Given the description of an element on the screen output the (x, y) to click on. 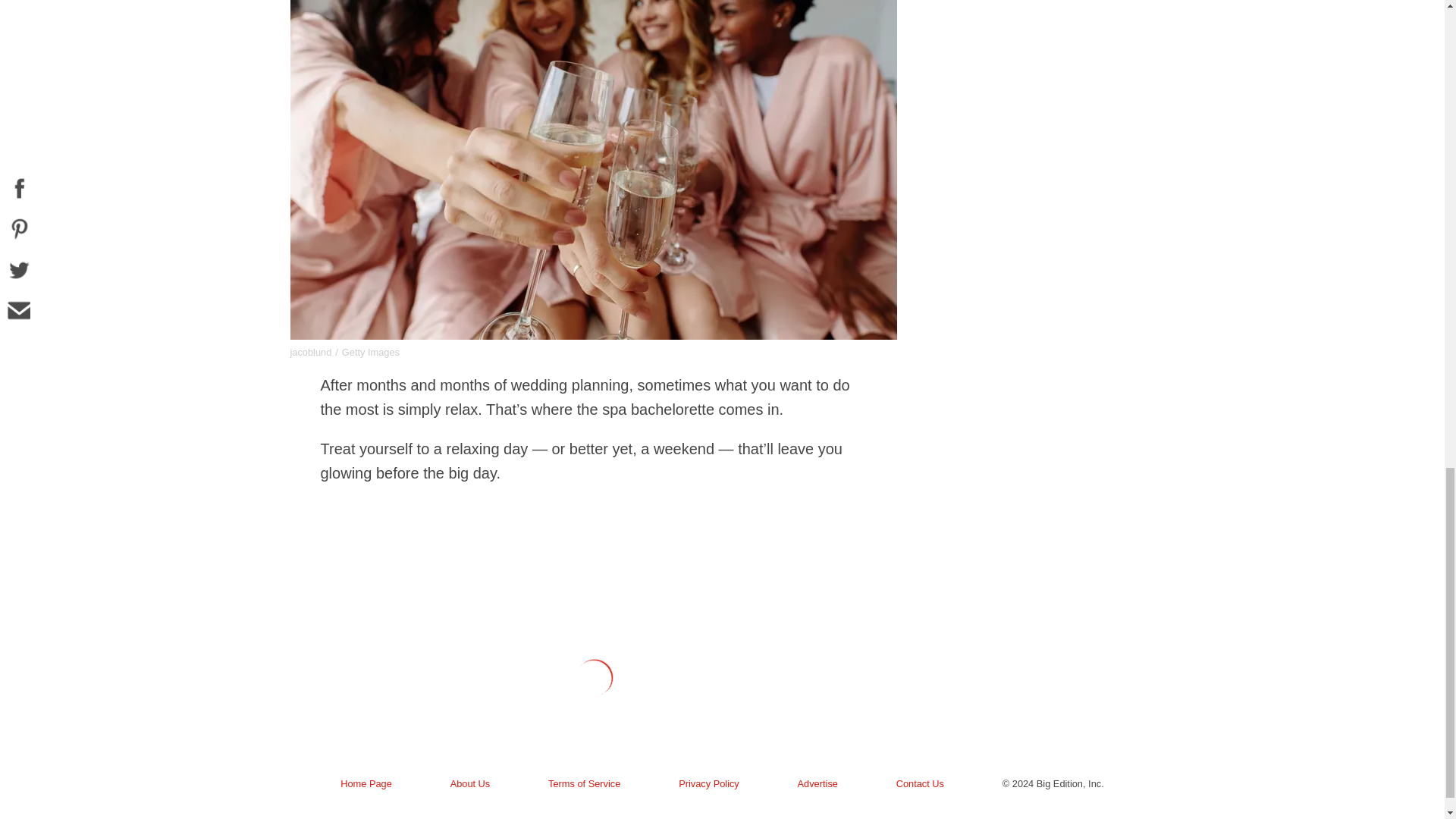
Contact Us (919, 798)
Privacy Policy (708, 798)
About Us (469, 798)
Home Page (365, 798)
Advertise (817, 798)
Terms of Service (584, 798)
